Given the description of an element on the screen output the (x, y) to click on. 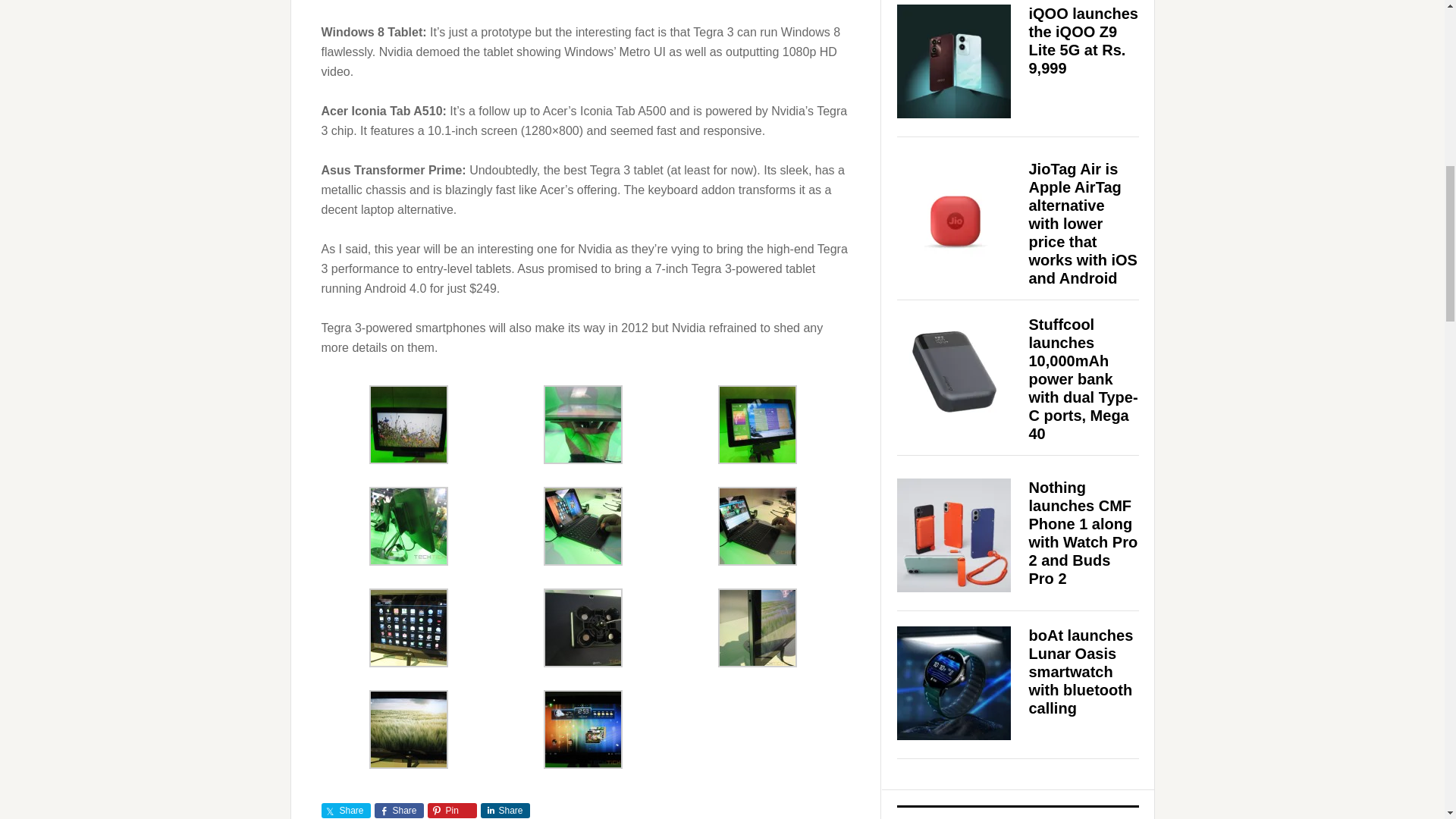
Share (398, 810)
Share (346, 810)
